Given the description of an element on the screen output the (x, y) to click on. 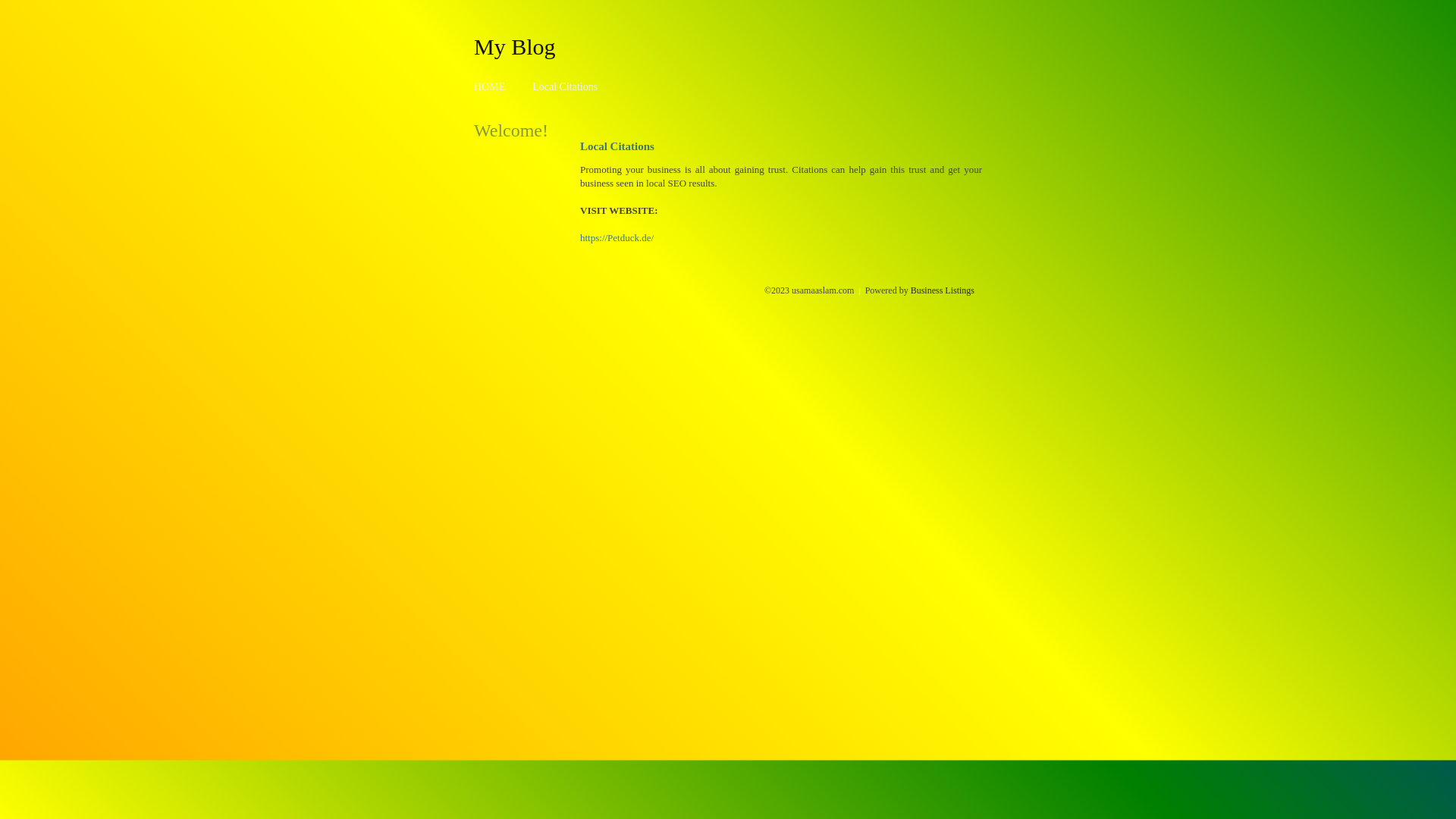
https://Petduck.de/ Element type: text (616, 237)
My Blog Element type: text (514, 46)
Business Listings Element type: text (942, 290)
HOME Element type: text (489, 86)
Local Citations Element type: text (564, 86)
